Given the description of an element on the screen output the (x, y) to click on. 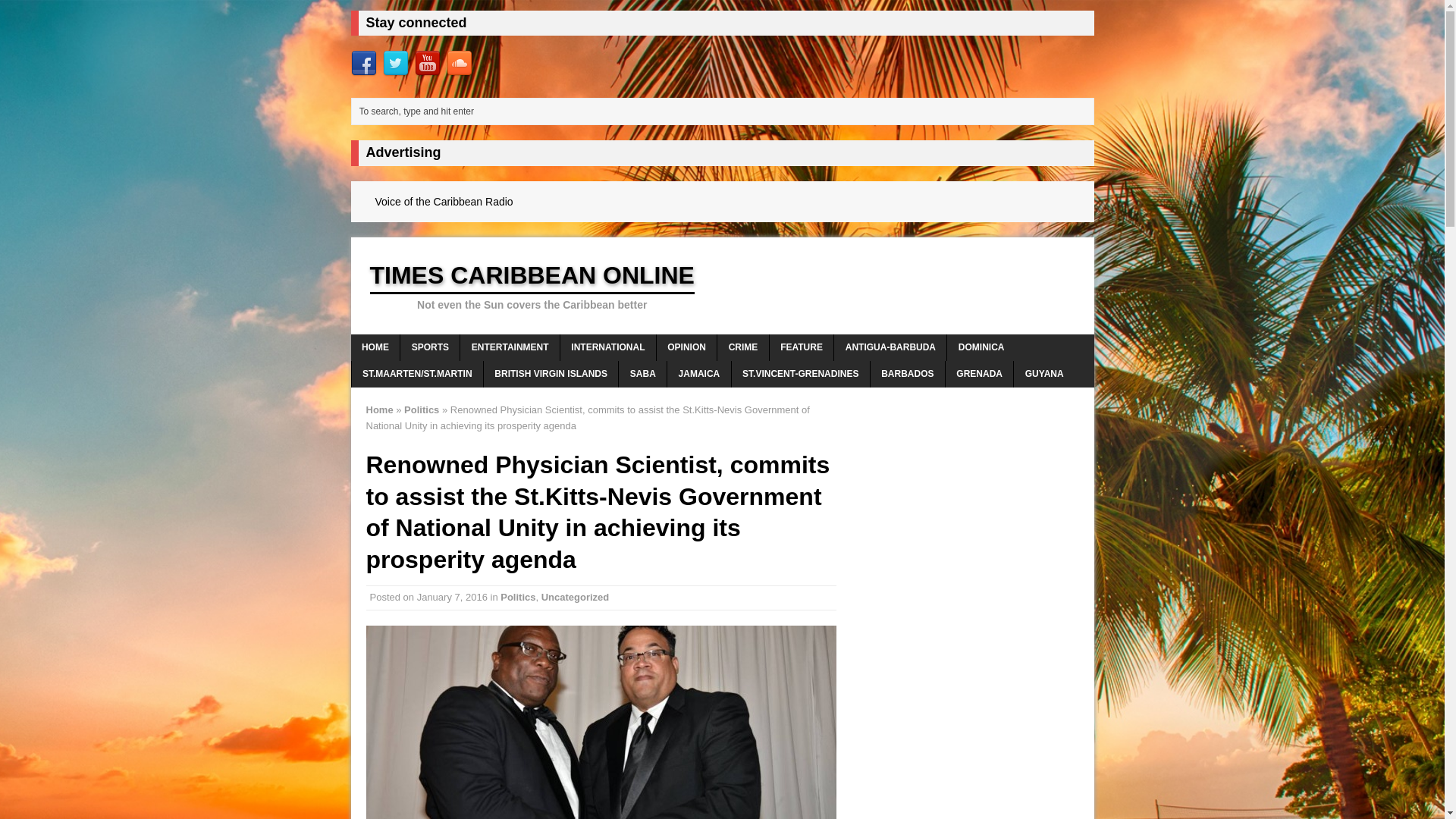
To search, type and hit enter (725, 111)
ANTIGUA-BARBUDA (890, 347)
DOMINICA (980, 347)
FEATURE (802, 347)
SPORTS (430, 347)
Dr Timothy Harris and Dr Milton Browne (600, 722)
HOME (374, 347)
ENTERTAINMENT (509, 347)
OPINION (686, 347)
Times Caribbean Online (721, 285)
INTERNATIONAL (608, 347)
CRIME (742, 347)
